Given the description of an element on the screen output the (x, y) to click on. 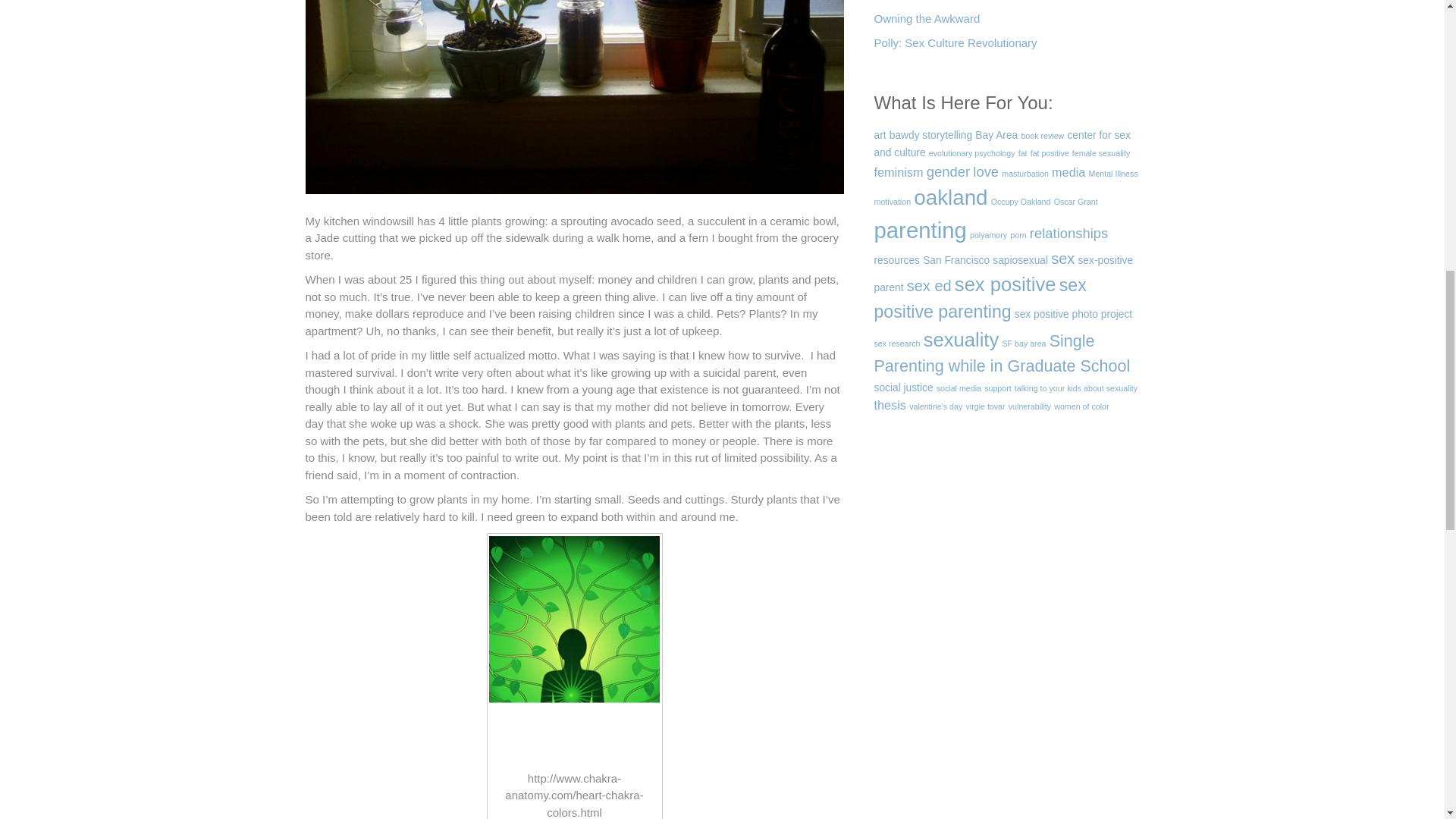
Bay Area (996, 134)
fat positive (1049, 153)
fat (1022, 153)
3 topics (1022, 153)
bawdy storytelling (930, 134)
3 topics (971, 153)
art (879, 134)
3 topics (1042, 135)
female sexuality (1100, 153)
center for sex and culture (1001, 143)
